Given the description of an element on the screen output the (x, y) to click on. 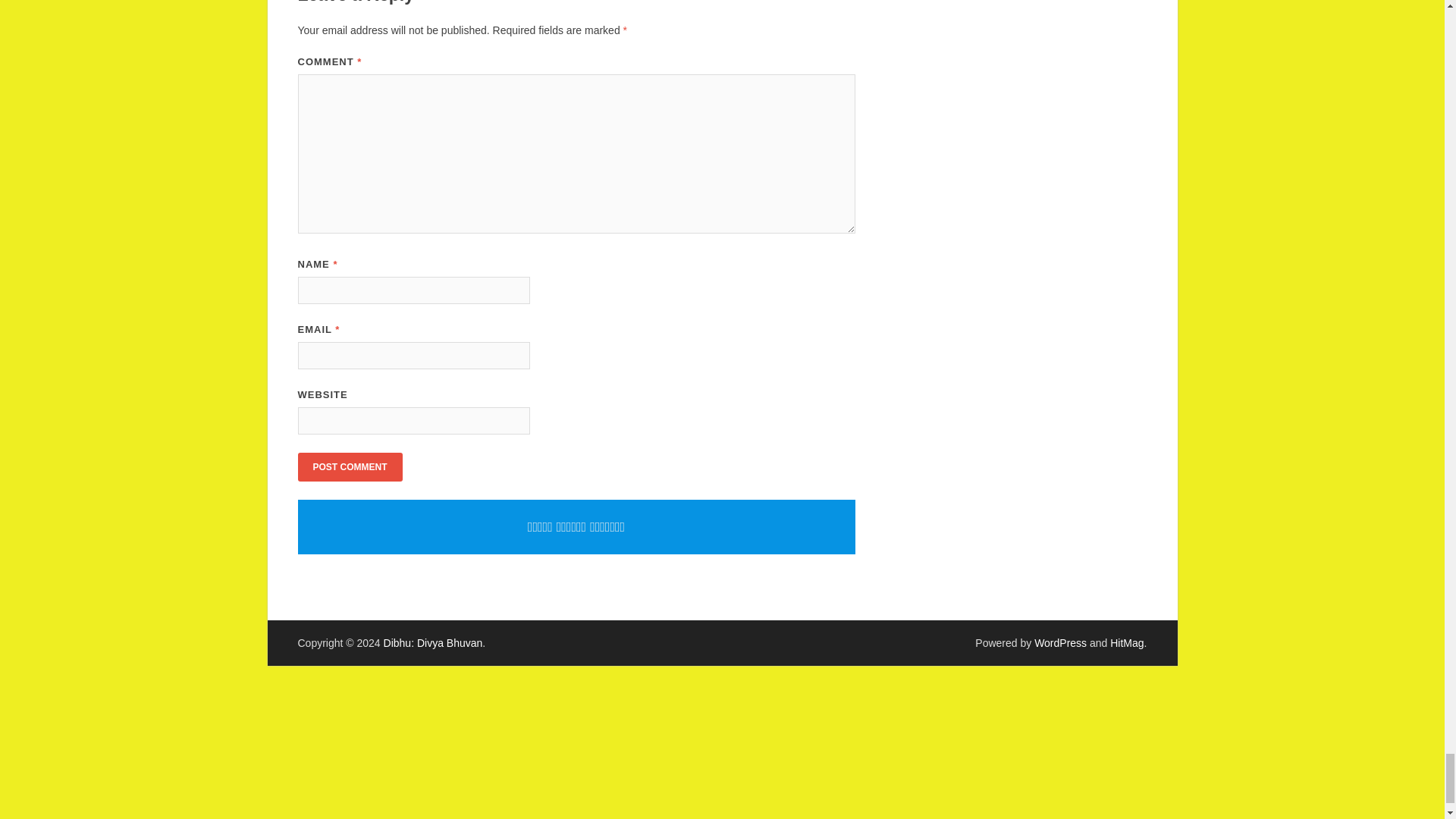
Post Comment (349, 466)
